Given the description of an element on the screen output the (x, y) to click on. 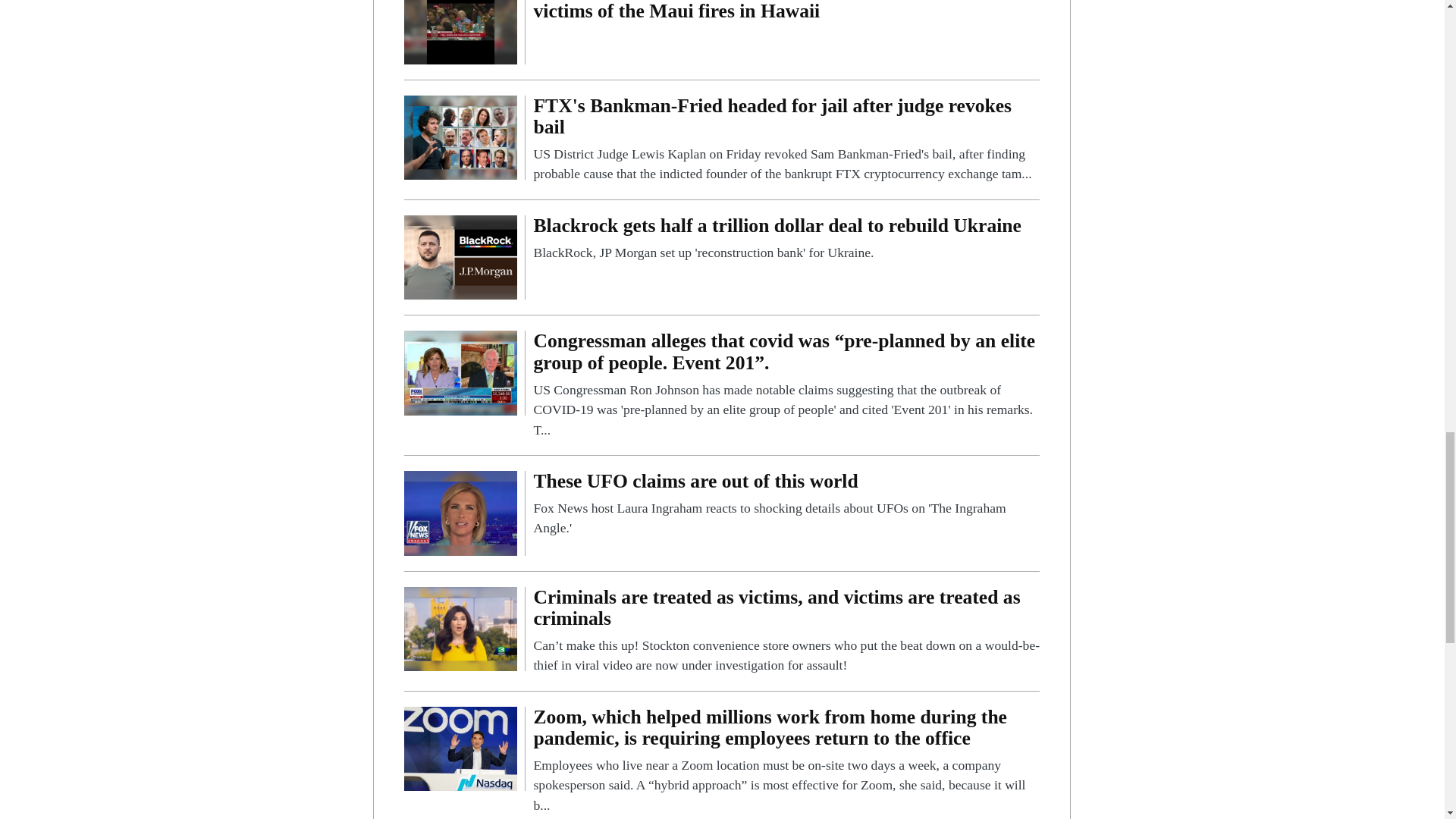
FTX's Bankman-Fried headed for jail after judge revokes bail (785, 139)
These UFO claims are out of this world (460, 512)
These UFO claims are out of this world (785, 504)
FTX's Bankman-Fried headed for jail after judge revokes bail (460, 136)
